Given the description of an element on the screen output the (x, y) to click on. 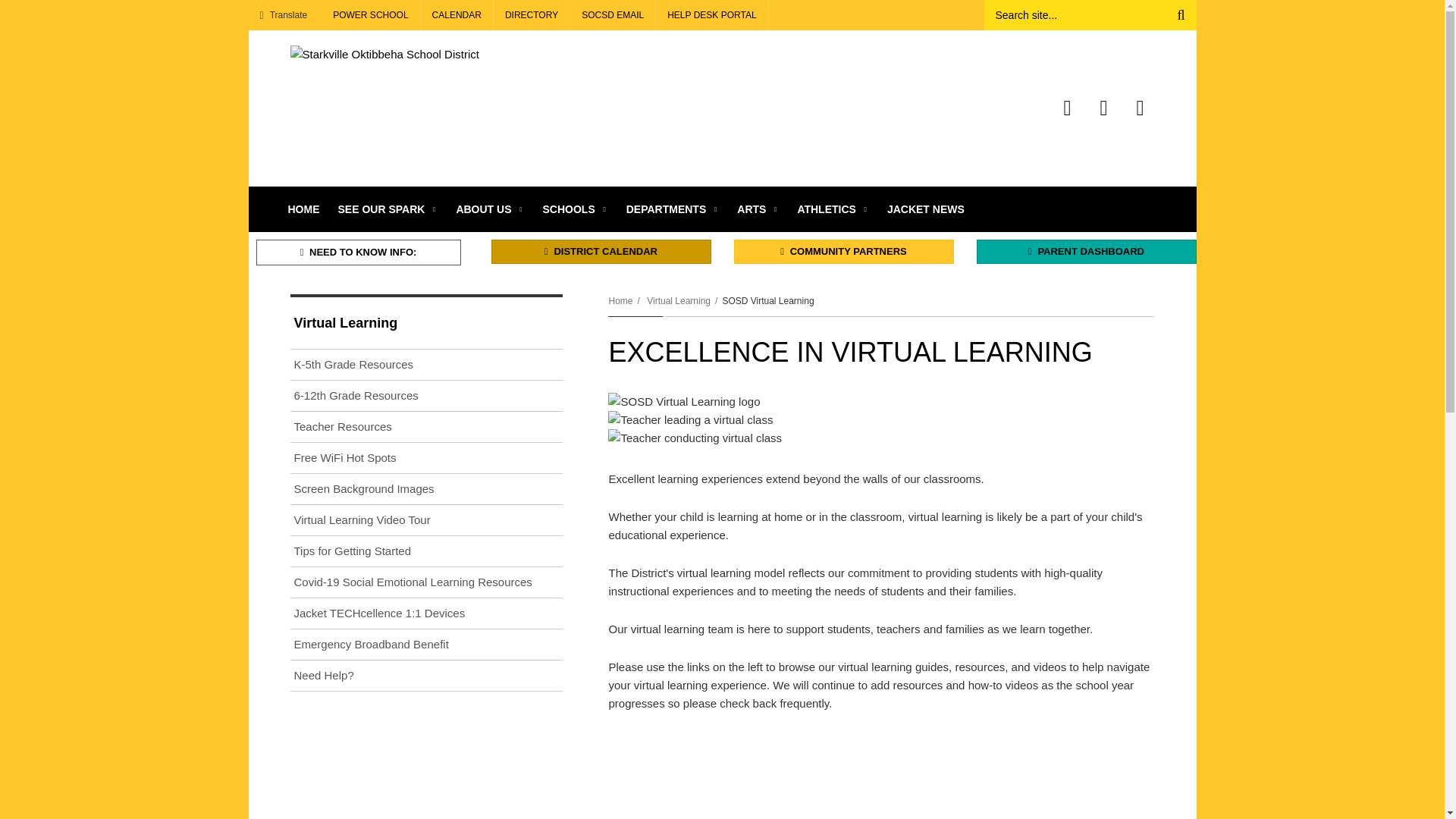
HOME (304, 208)
SCHOOLS (575, 208)
Like us on Facebook (1066, 108)
POWER SCHOOL (370, 15)
DIRECTORY (531, 15)
Find us on Instagram (1139, 108)
CALENDAR (456, 15)
SOCSD EMAIL (613, 15)
SEE OUR SPARK (387, 208)
HELP DESK PORTAL (712, 15)
